Given the description of an element on the screen output the (x, y) to click on. 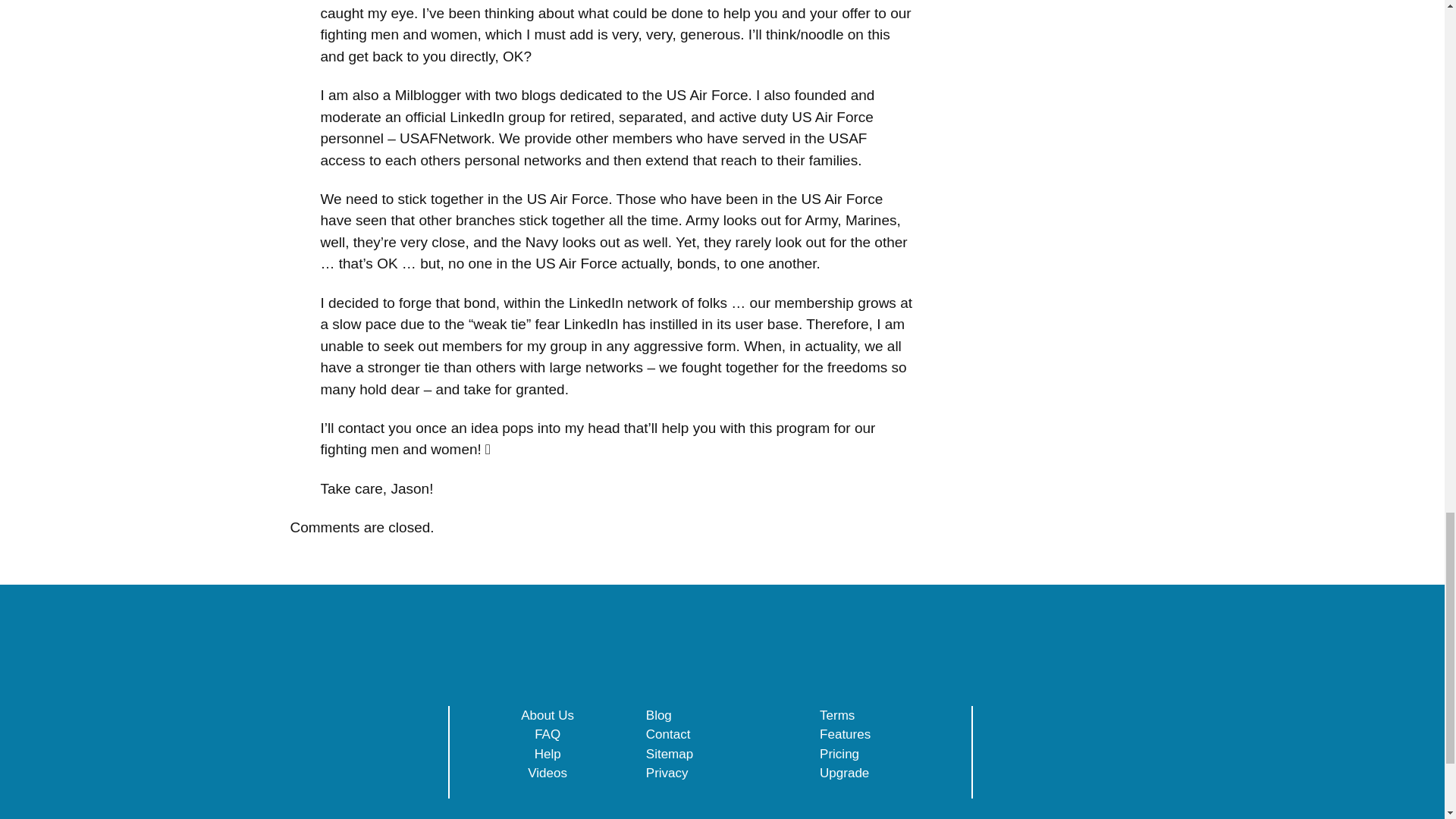
Contact (668, 734)
FAQ (547, 734)
Blog (658, 715)
Videos (547, 772)
About Us (547, 715)
Help (547, 753)
